Given the description of an element on the screen output the (x, y) to click on. 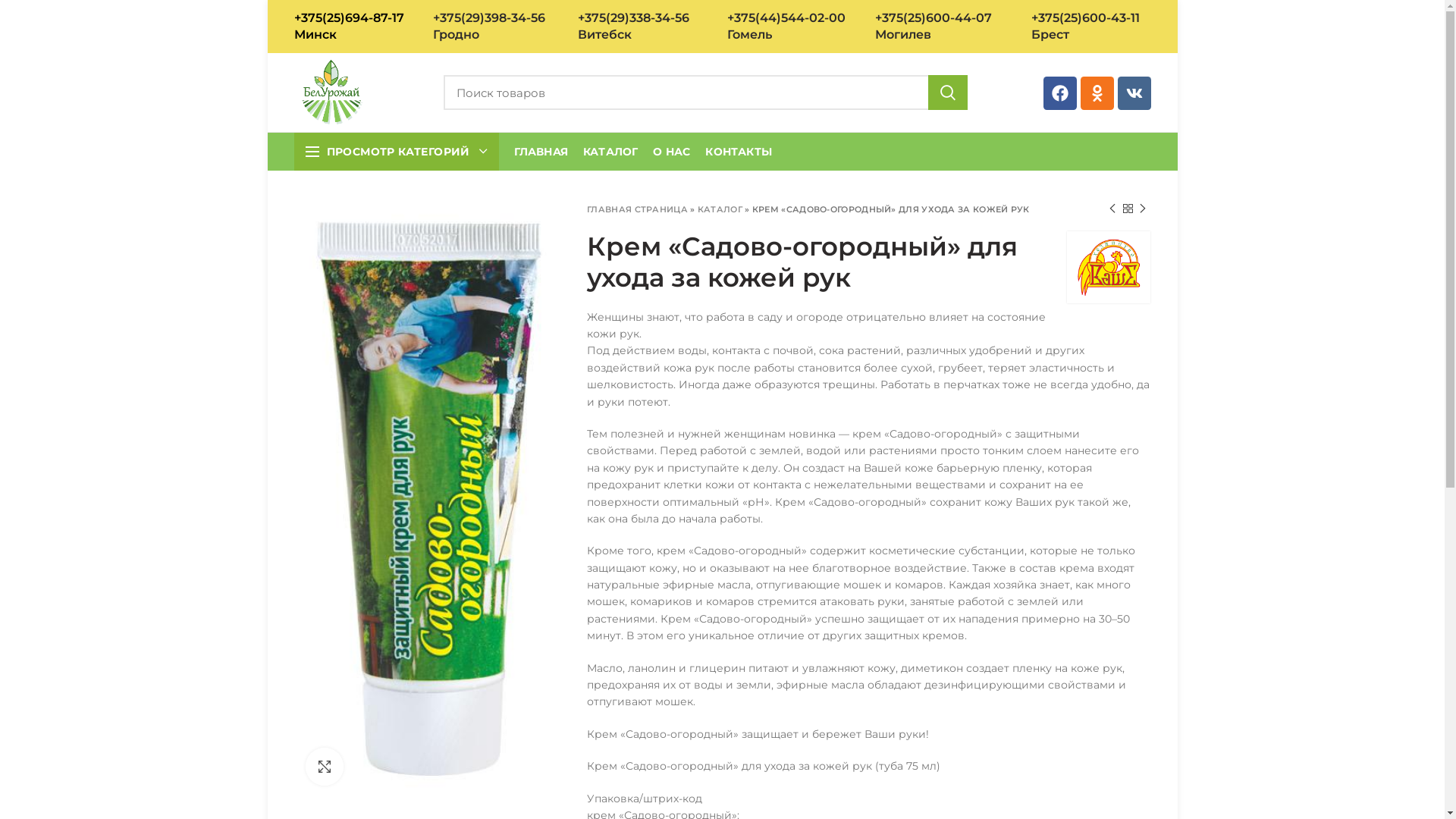
vhoz_sadovo-ogorodnyj_75ml_ver2017-01_4620015690254.jpg Element type: hover (429, 498)
